Given the description of an element on the screen output the (x, y) to click on. 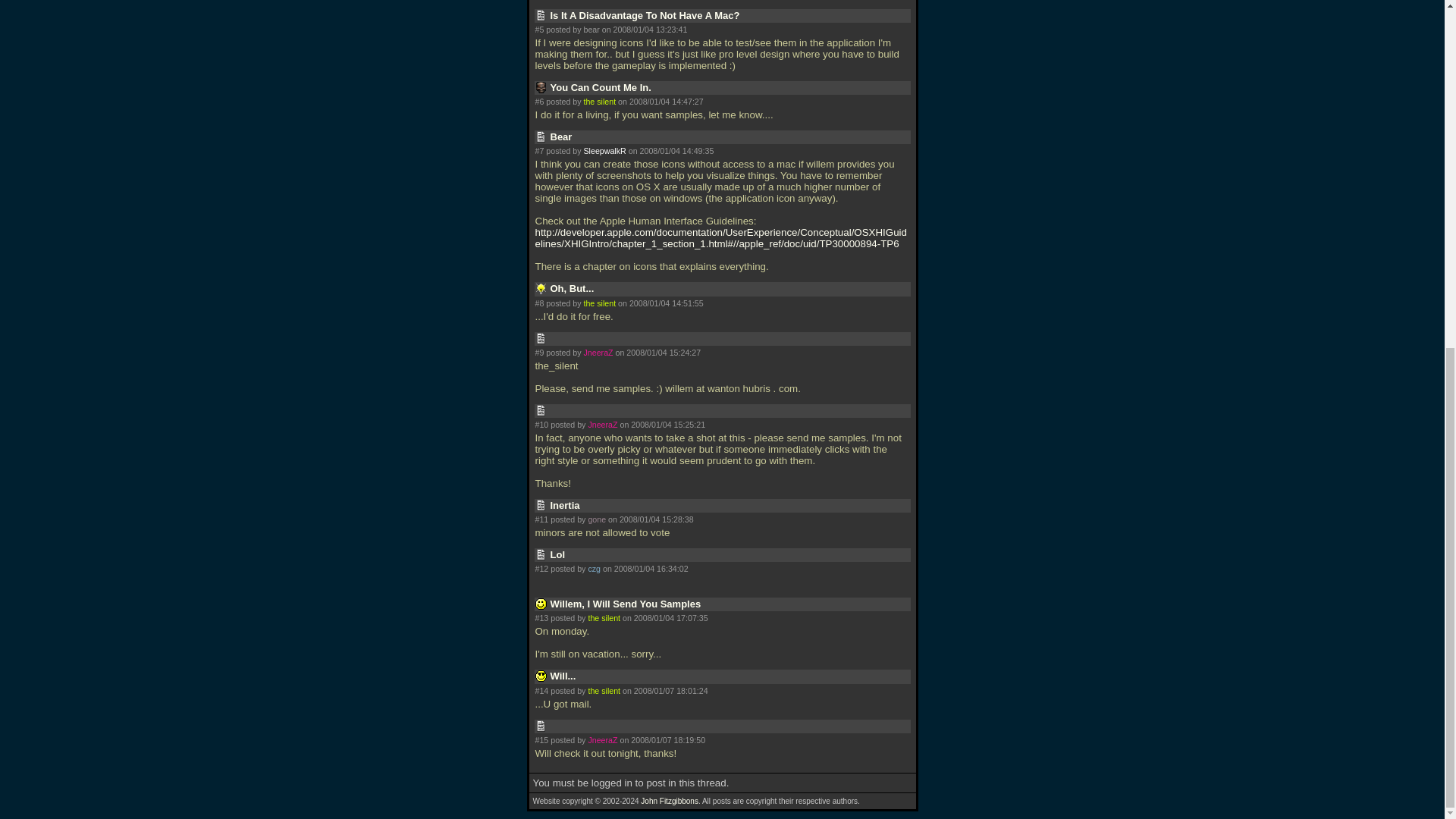
JneeraZ (597, 352)
the silent (604, 617)
JneeraZ (602, 424)
the silent (604, 690)
czg (593, 568)
the silent (599, 302)
SleepwalkR (604, 150)
the silent (599, 101)
gone (596, 519)
